Given the description of an element on the screen output the (x, y) to click on. 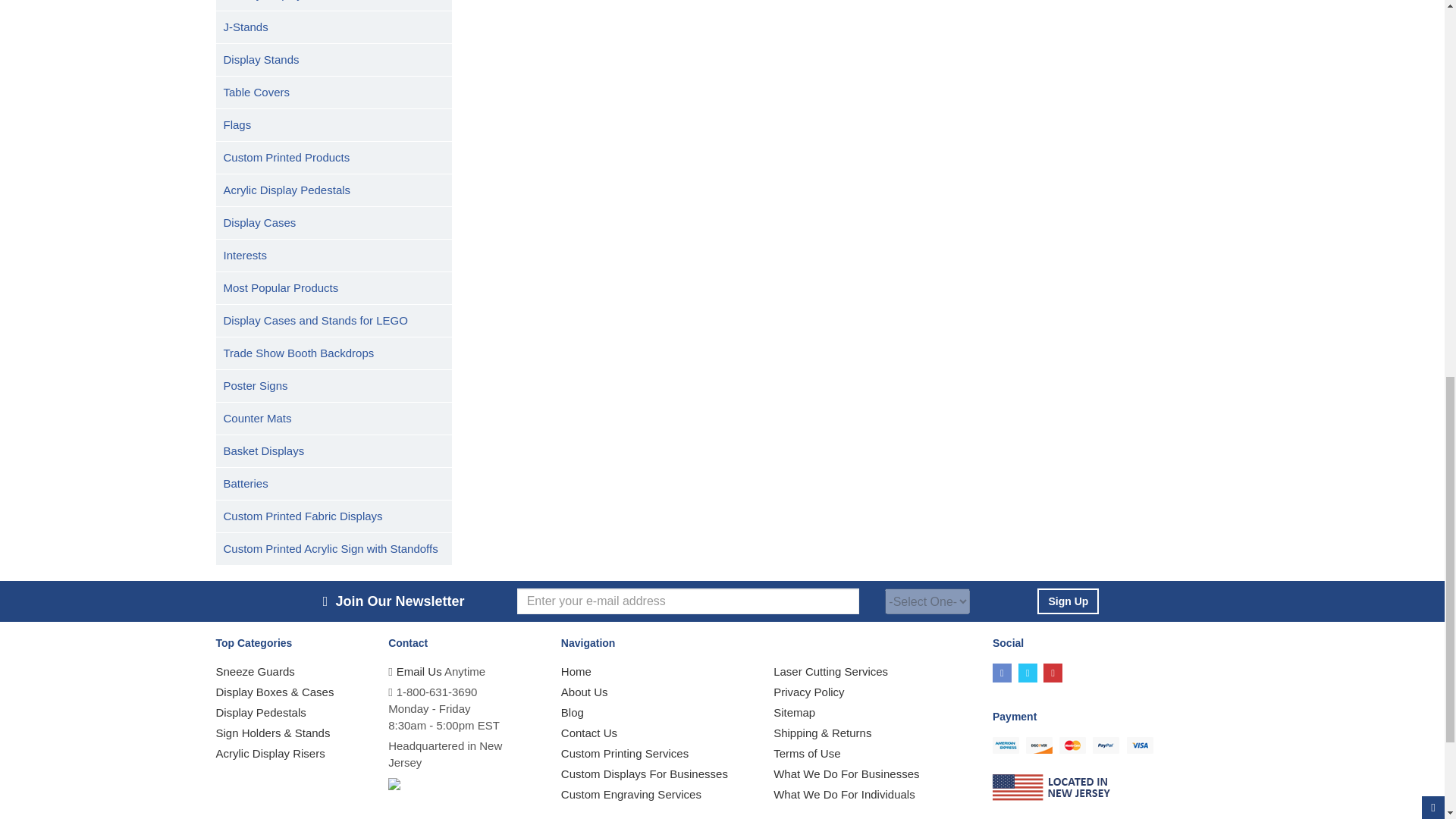
located in nj (1052, 786)
Sign Up (1067, 601)
Sign Up (1067, 601)
